Given the description of an element on the screen output the (x, y) to click on. 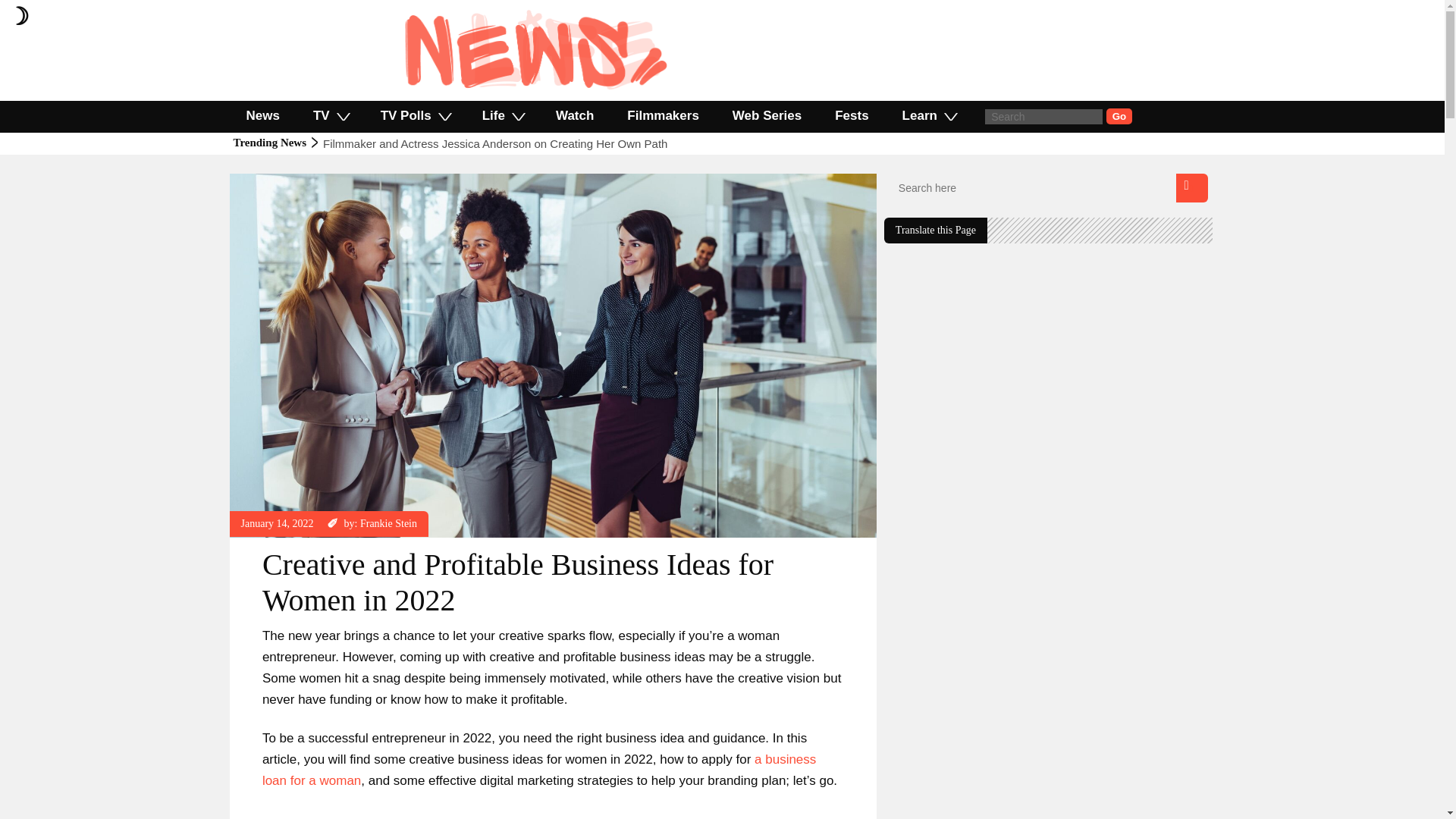
January 14, 2022 (277, 523)
TV (330, 115)
TV Polls (414, 115)
Go (1119, 116)
Go (1119, 116)
Fests (851, 115)
Learn (928, 115)
News (261, 115)
Web Series (767, 115)
Lifestyle (259, 180)
